Given the description of an element on the screen output the (x, y) to click on. 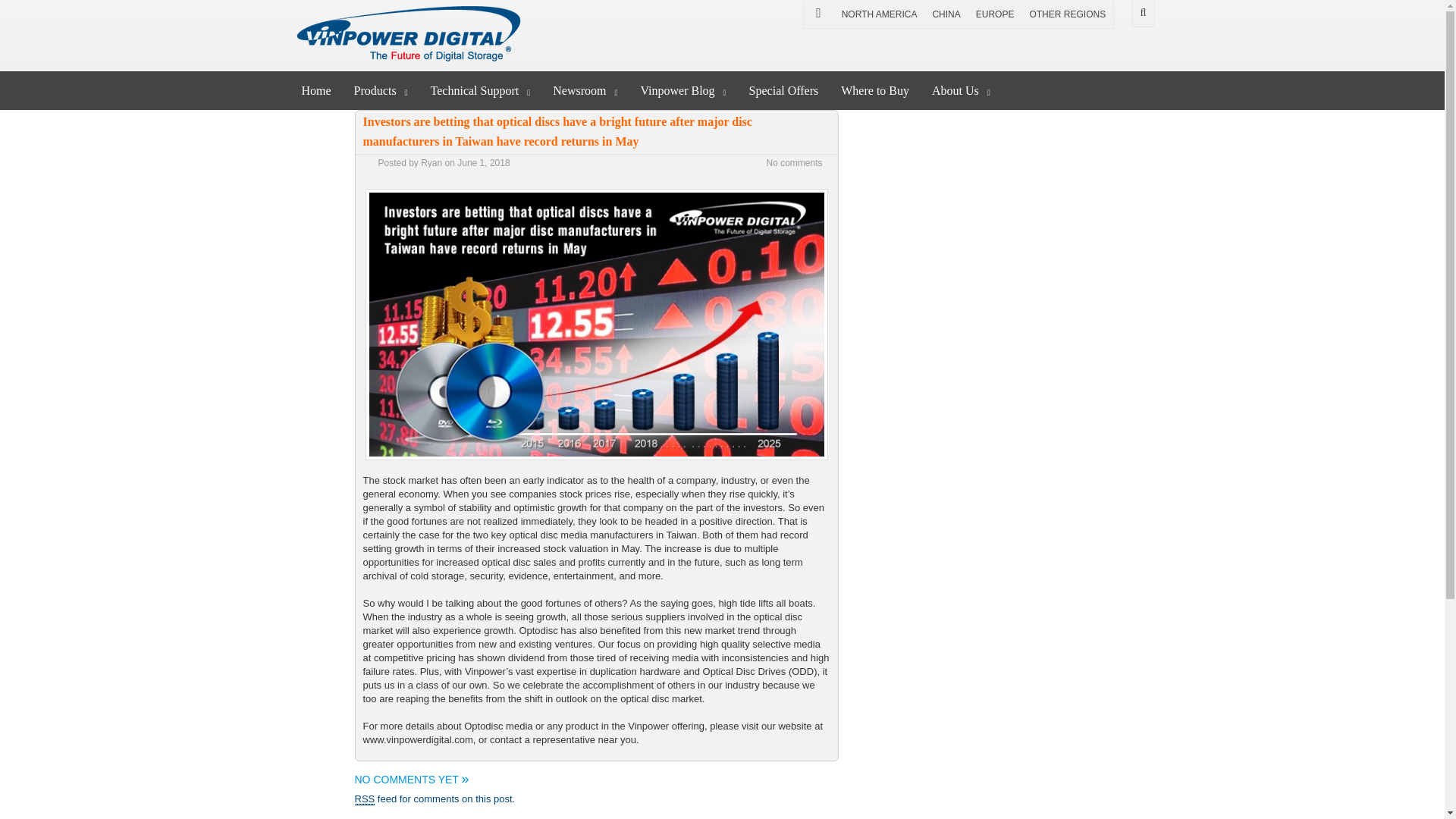
Products (380, 90)
Home (315, 90)
Really Simple Syndication (365, 799)
